Given the description of an element on the screen output the (x, y) to click on. 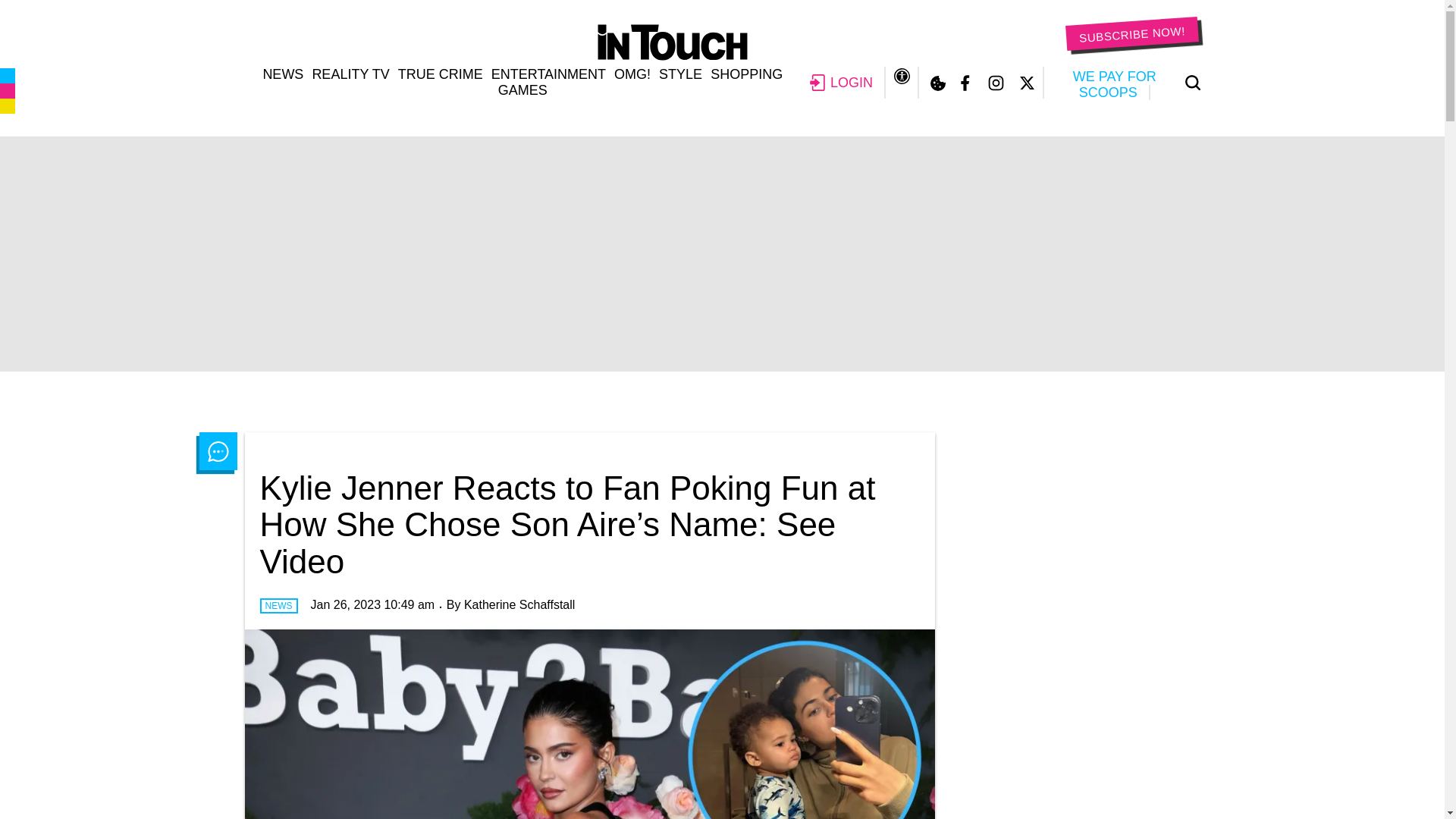
TRUE CRIME (440, 73)
REALITY TV (349, 73)
Posts by Katherine Schaffstall (519, 604)
NEWS (282, 73)
